Given the description of an element on the screen output the (x, y) to click on. 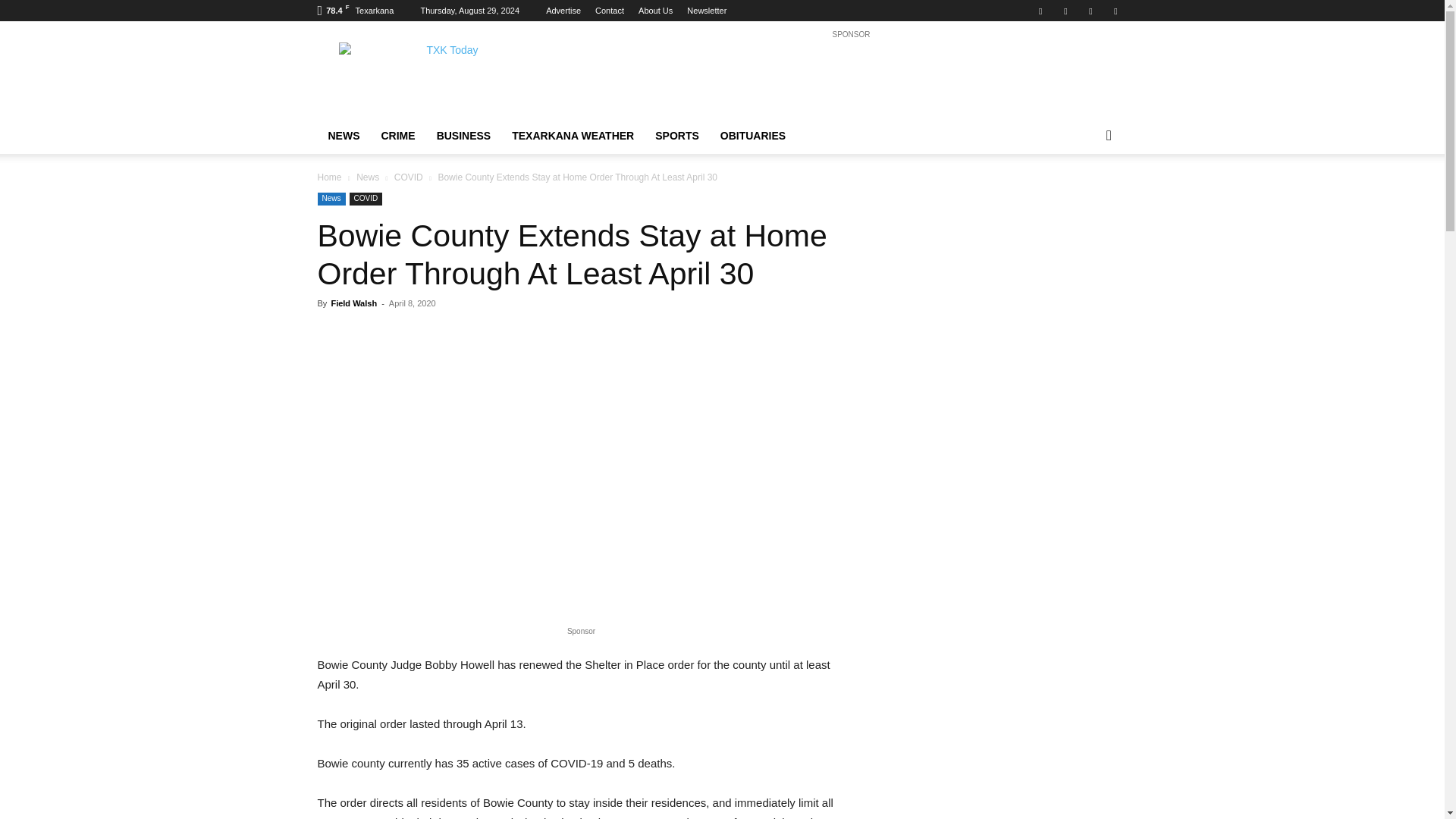
Advertise (563, 10)
SPORTS (677, 135)
COVID (365, 198)
TEXARKANA WEATHER (572, 135)
Pinterest (1065, 10)
BUSINESS (464, 135)
OBITUARIES (753, 135)
Search (1085, 196)
COVID (408, 176)
Texarkana News (445, 76)
